Given the description of an element on the screen output the (x, y) to click on. 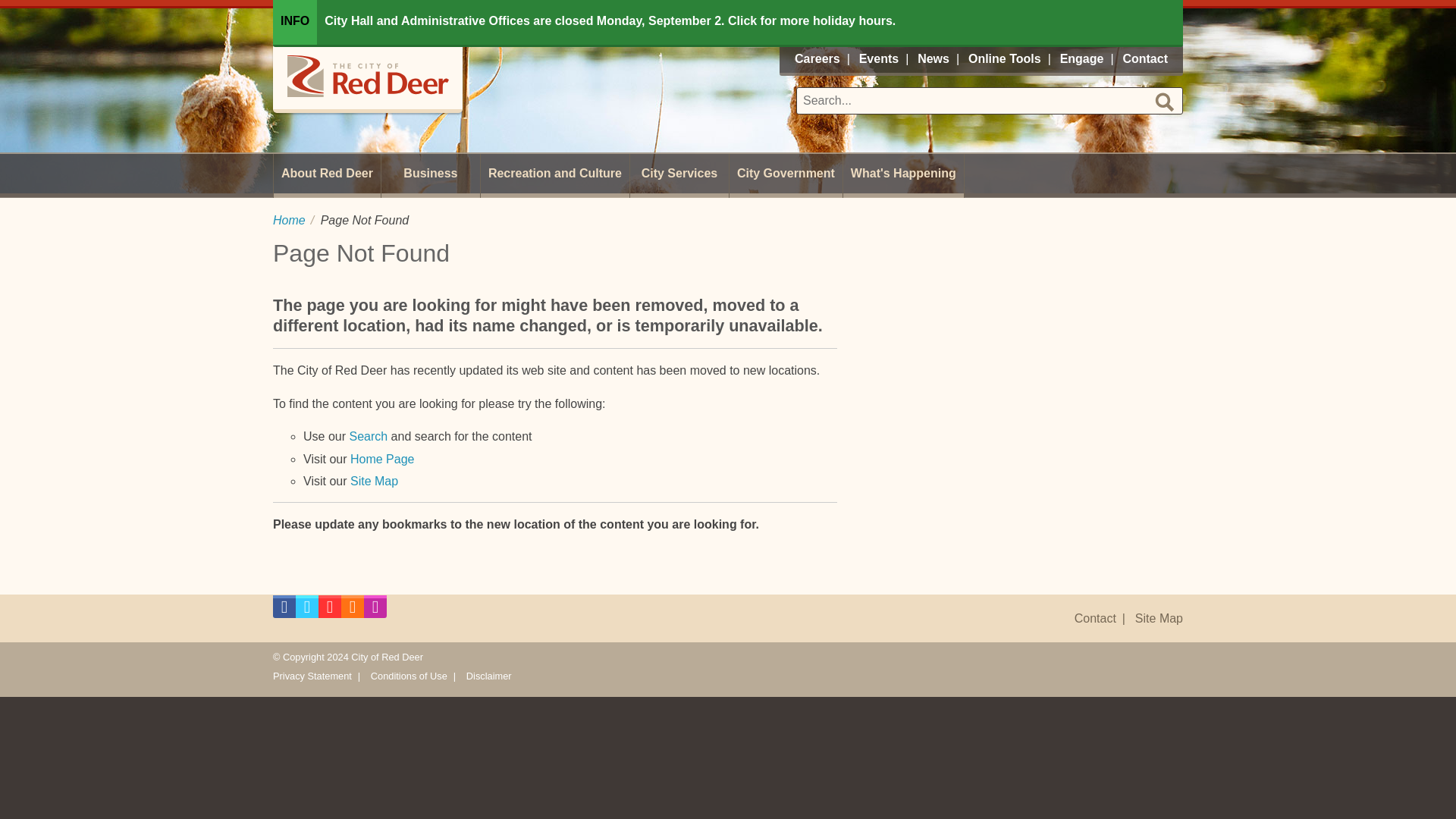
Home (289, 219)
Events (878, 59)
City Services (679, 175)
Open City of Red Deer Instagram (375, 610)
Contact (1095, 618)
search (1164, 101)
Search (368, 436)
Disclaimer (488, 676)
Search (368, 436)
